Given the description of an element on the screen output the (x, y) to click on. 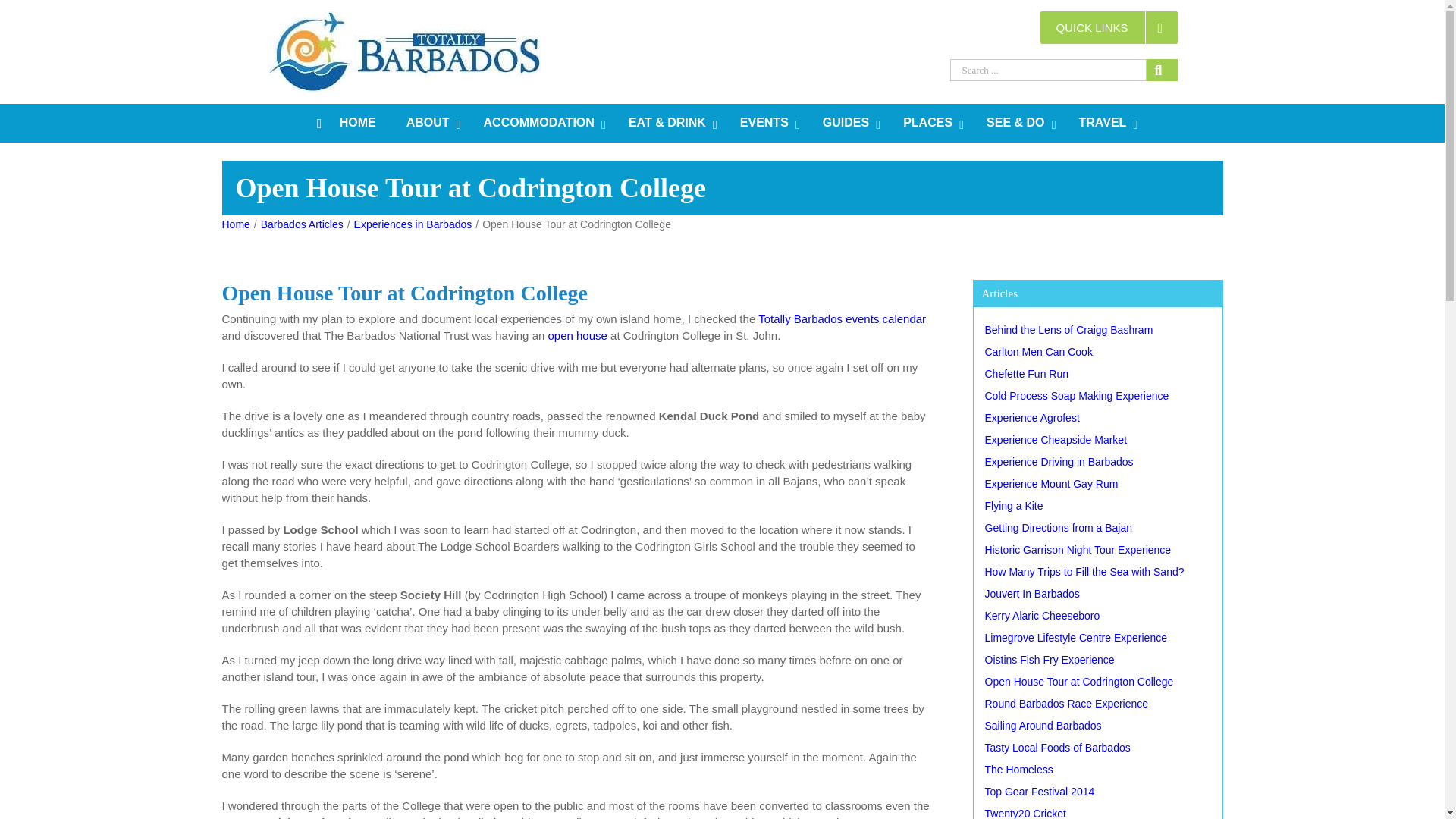
ABOUT (429, 123)
ACCOMMODATION (540, 123)
QUICK LINKS (1108, 27)
HOME (345, 123)
